Given the description of an element on the screen output the (x, y) to click on. 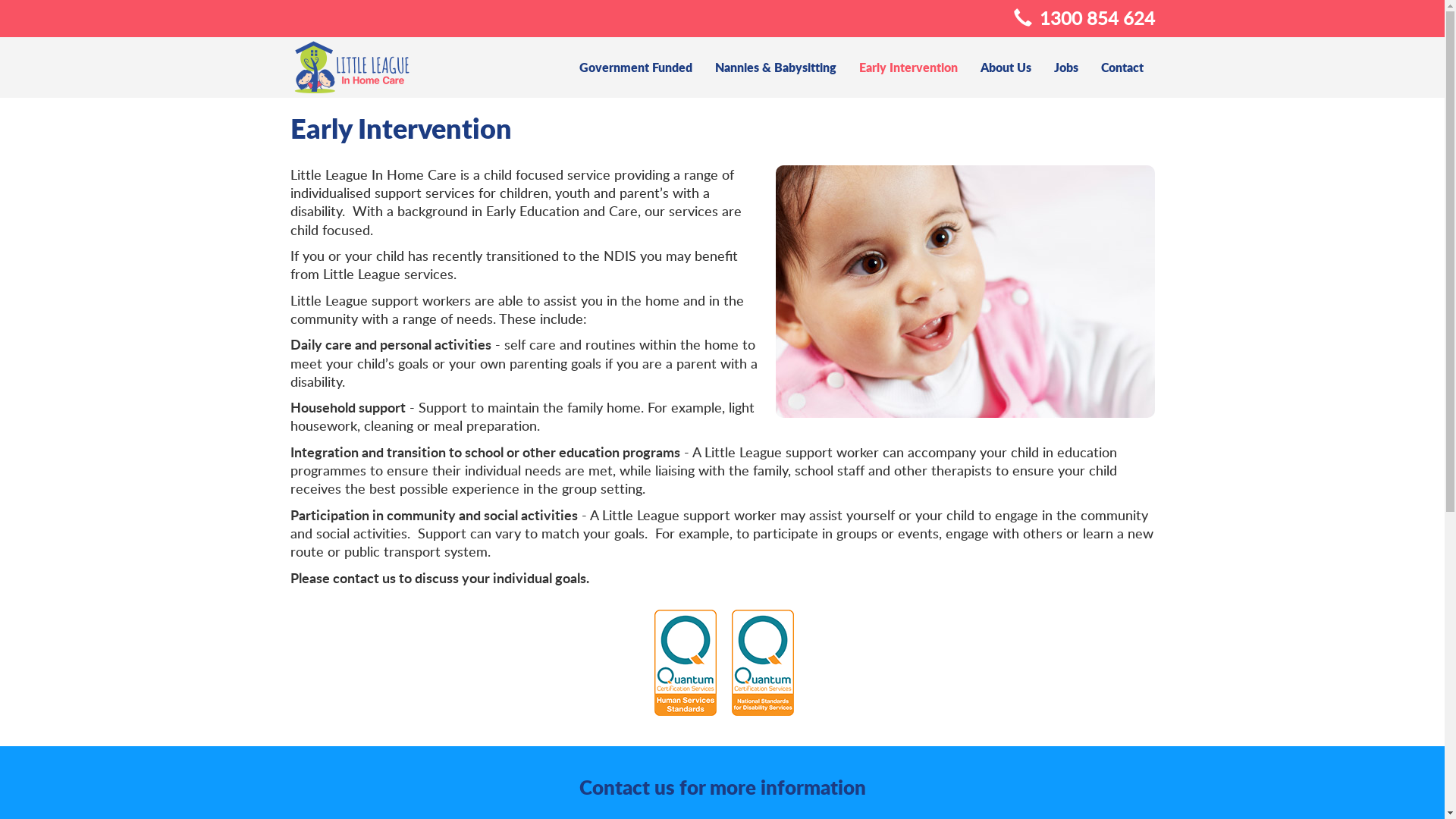
1300 854 624 Element type: text (1096, 17)
Government Funded Element type: text (634, 67)
Nannies & Babysitting Element type: text (775, 67)
Skip to main content Element type: text (62, 0)
About Us Element type: text (1005, 67)
Jobs Element type: text (1064, 67)
Early Intervention Element type: text (908, 67)
Contact Element type: text (1121, 67)
Home Element type: hover (350, 64)
